Given the description of an element on the screen output the (x, y) to click on. 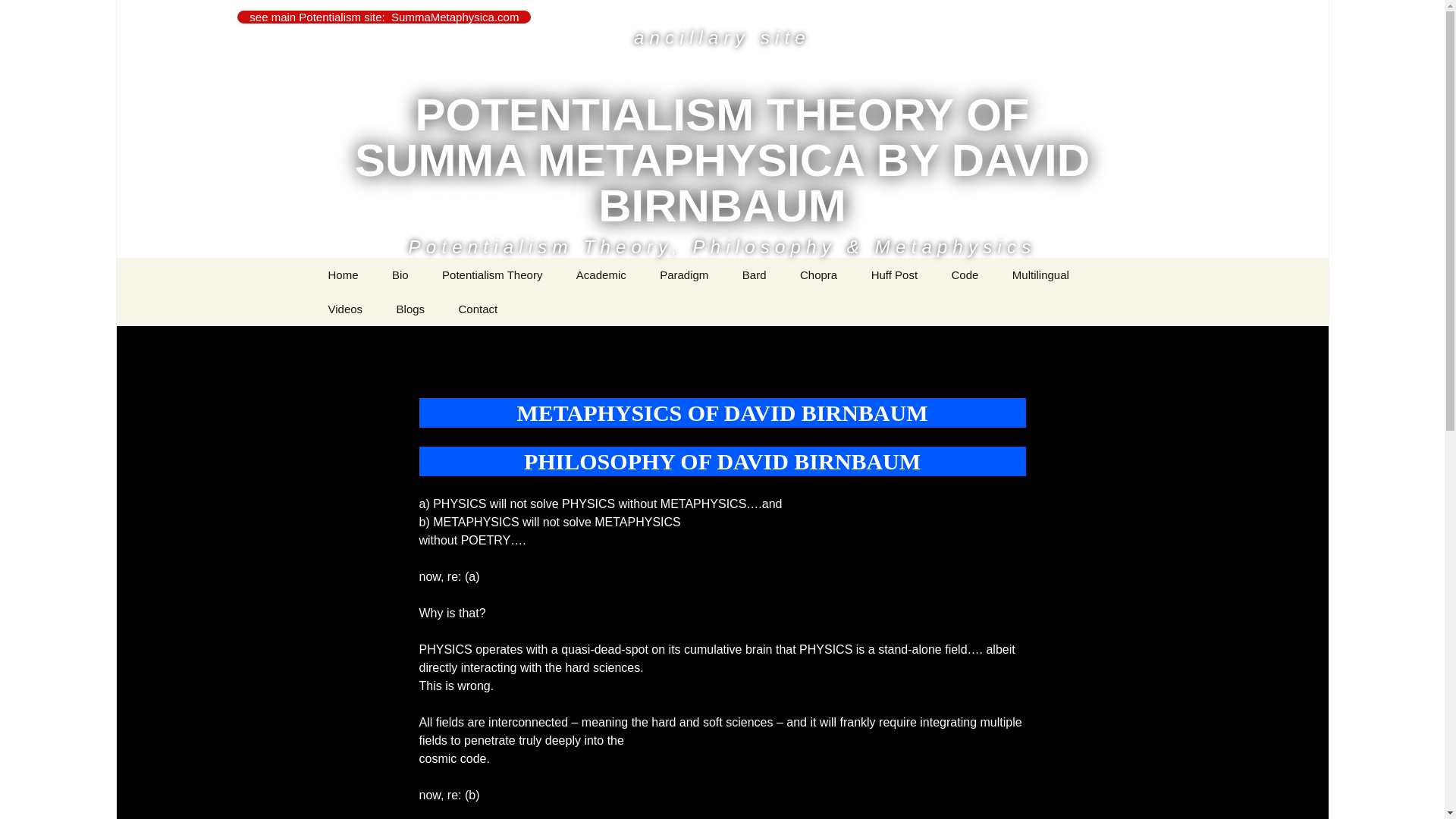
Home (342, 274)
Blogs (411, 308)
Academic (601, 274)
Potentialism Theory (491, 274)
Videos (345, 308)
Bard (753, 274)
Multilingual (1040, 274)
Chopra (817, 274)
Huff1000 (931, 308)
